Given the description of an element on the screen output the (x, y) to click on. 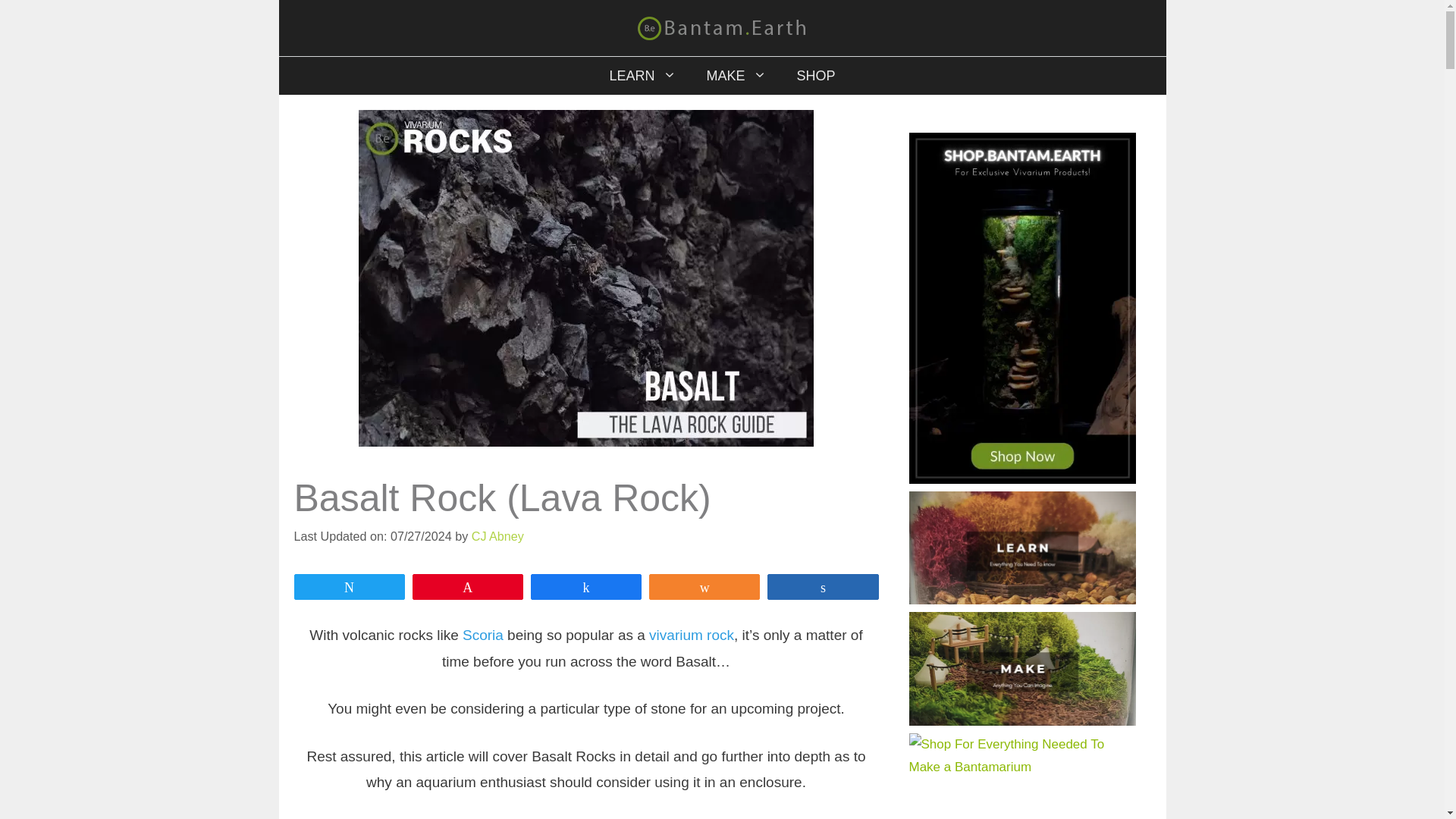
Scoria (483, 634)
LEARN (642, 75)
View all posts by CJ Abney (497, 535)
CJ Abney (497, 535)
SHOP (815, 75)
vivarium rock (691, 634)
MAKE (736, 75)
